Given the description of an element on the screen output the (x, y) to click on. 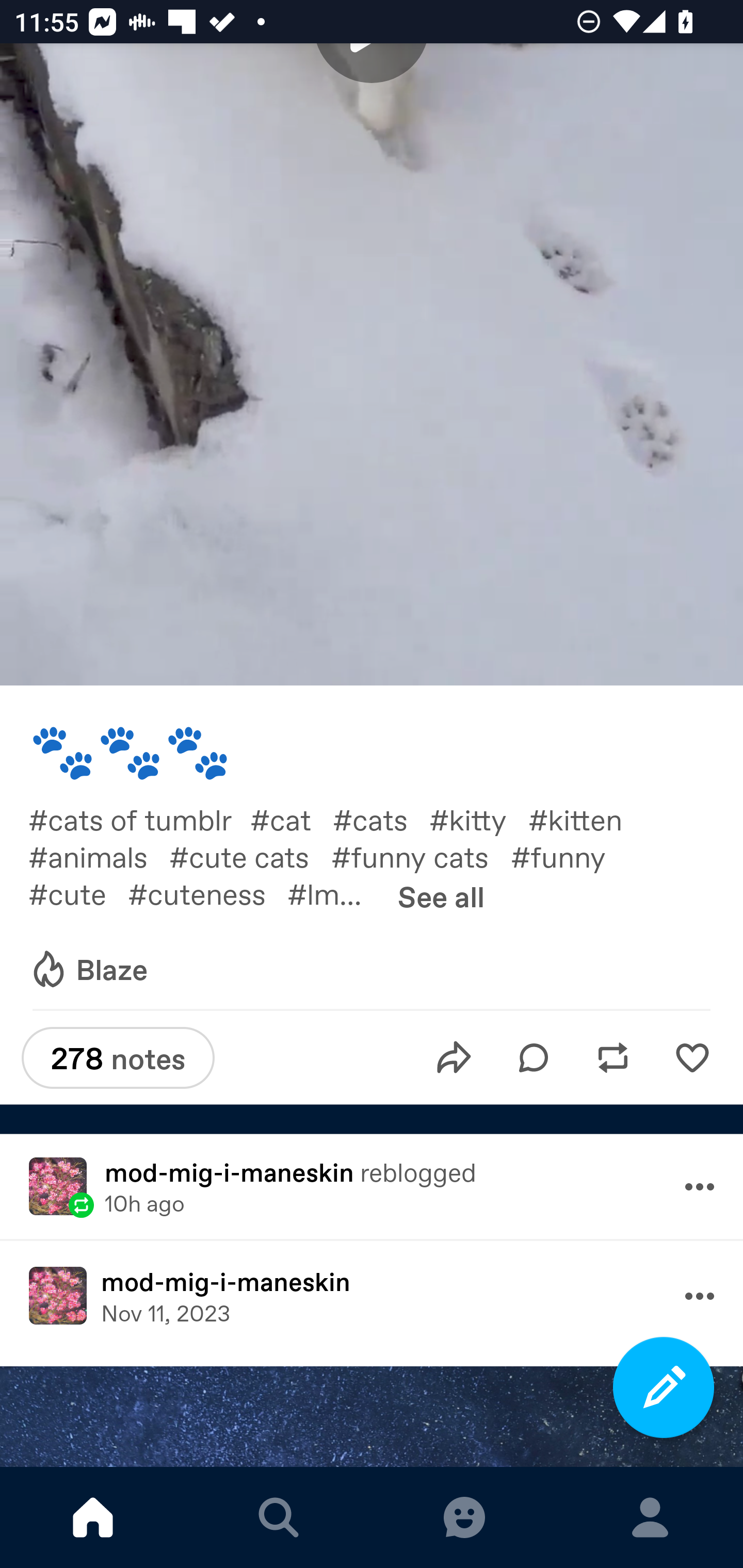
Double tap to show fullscreen (371, 371)
#cats of tumblr (139, 819)
#cat (291, 819)
#cats (380, 819)
#kitty (478, 819)
#kitten (586, 819)
#animals (98, 855)
#cute cats (250, 855)
#funny cats (421, 855)
#funny (569, 855)
#cute (77, 893)
#cuteness (207, 893)
#lm… (335, 893)
See all (441, 896)
Blaze Blaze Blaze (88, 969)
Share post to message (454, 1058)
Reply (533, 1058)
Reblog (612, 1058)
Like (691, 1058)
278 notes (117, 1057)
Compose a new post (663, 1387)
DASHBOARD (92, 1517)
EXPLORE (278, 1517)
MESSAGES (464, 1517)
ACCOUNT (650, 1517)
